Given the description of an element on the screen output the (x, y) to click on. 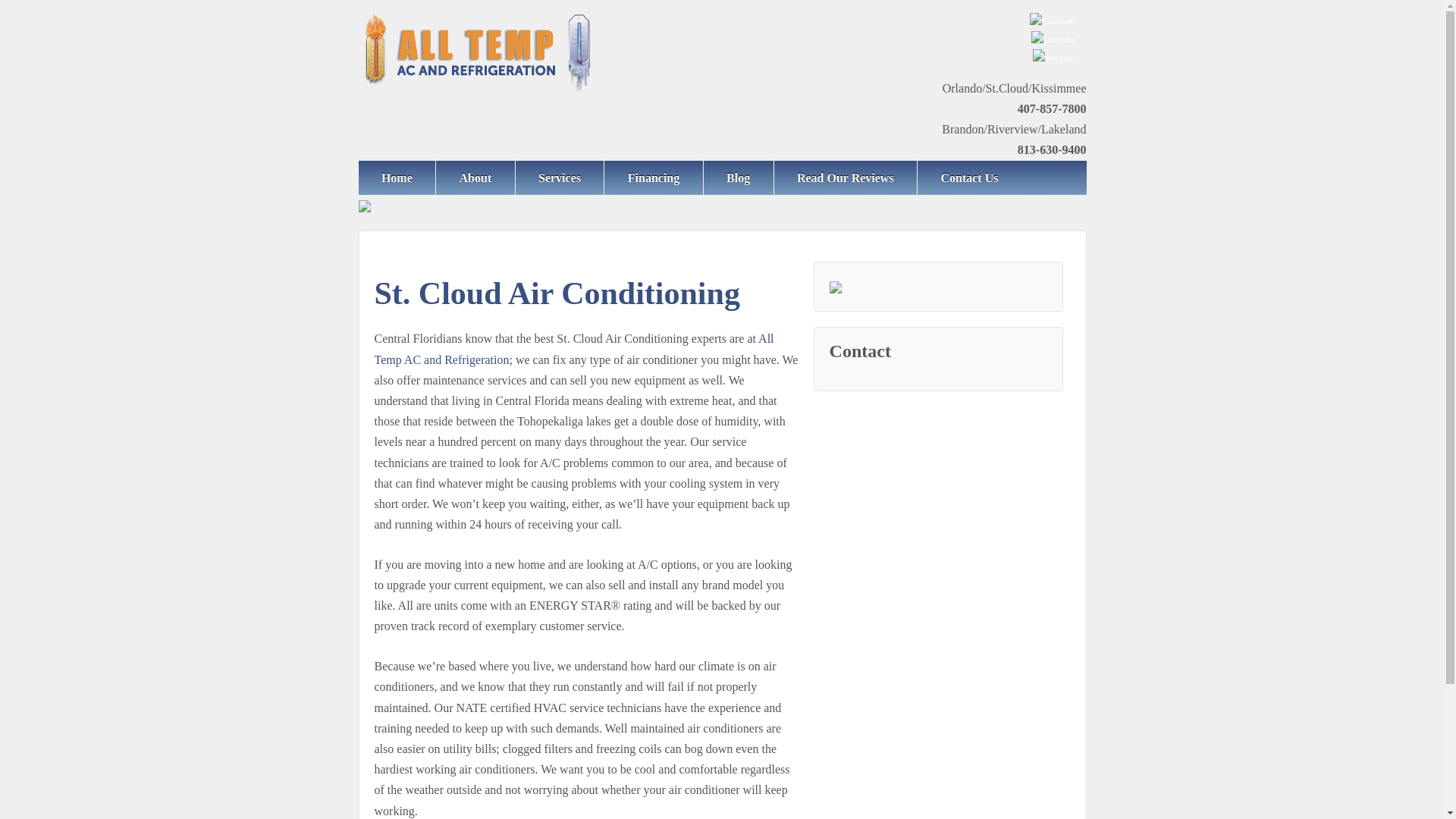
Financing (652, 177)
Read Our Reviews (845, 177)
Blog (738, 177)
Services (559, 177)
Home (396, 177)
About (474, 177)
All Temp AC and Refrigeration (574, 348)
Contact Us (969, 177)
